Given the description of an element on the screen output the (x, y) to click on. 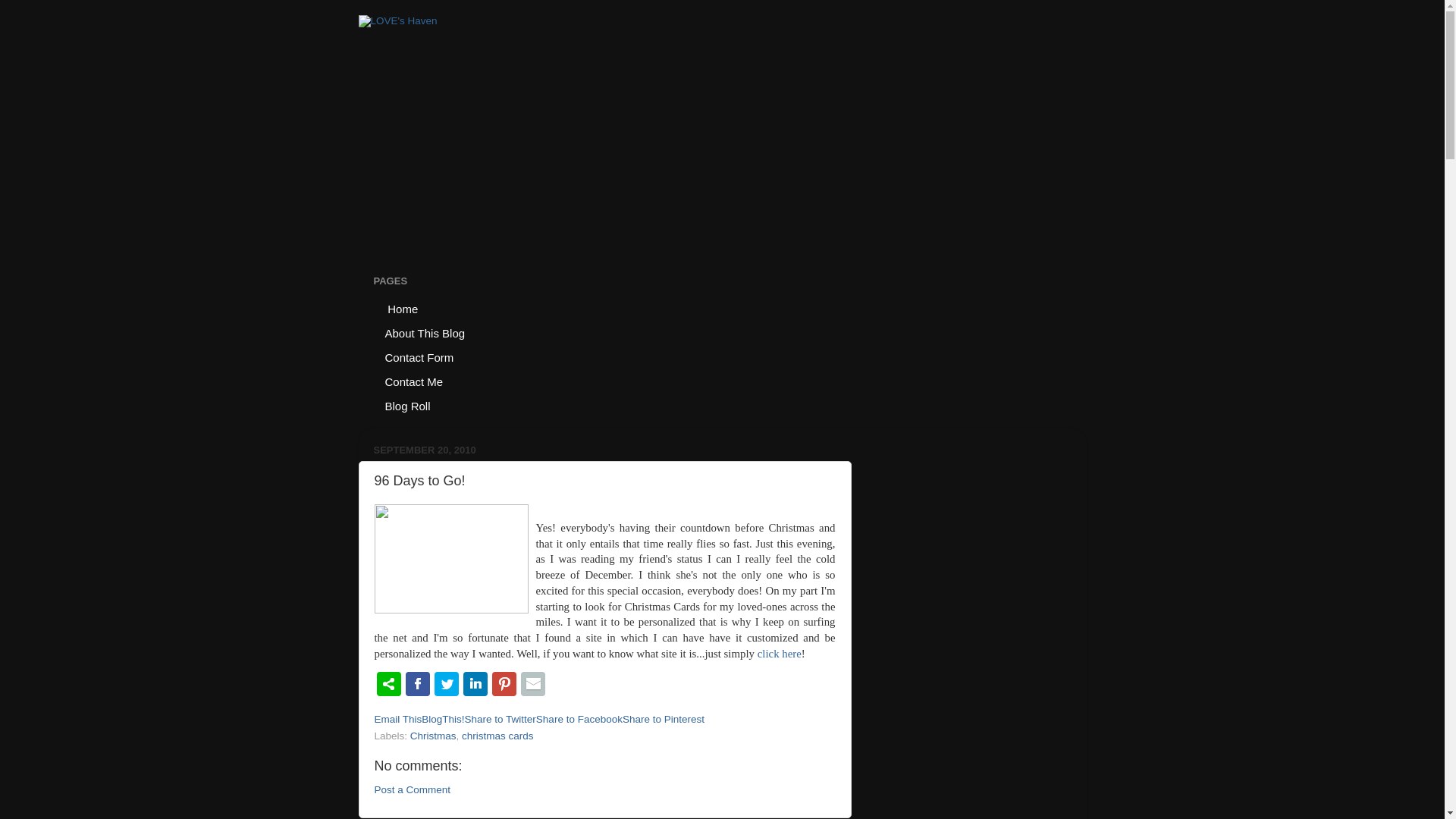
Contact Form (418, 356)
Email This (398, 718)
Blog Roll (407, 405)
Share to Pinterest (663, 718)
BlogThis! (443, 718)
Christmas (433, 736)
Home (400, 308)
Share to Facebook (579, 718)
Contact Me (413, 381)
Share to Facebook (579, 718)
BlogThis! (443, 718)
Share to Twitter (499, 718)
click here (779, 653)
Share to Twitter (499, 718)
Post a Comment (412, 789)
